Given the description of an element on the screen output the (x, y) to click on. 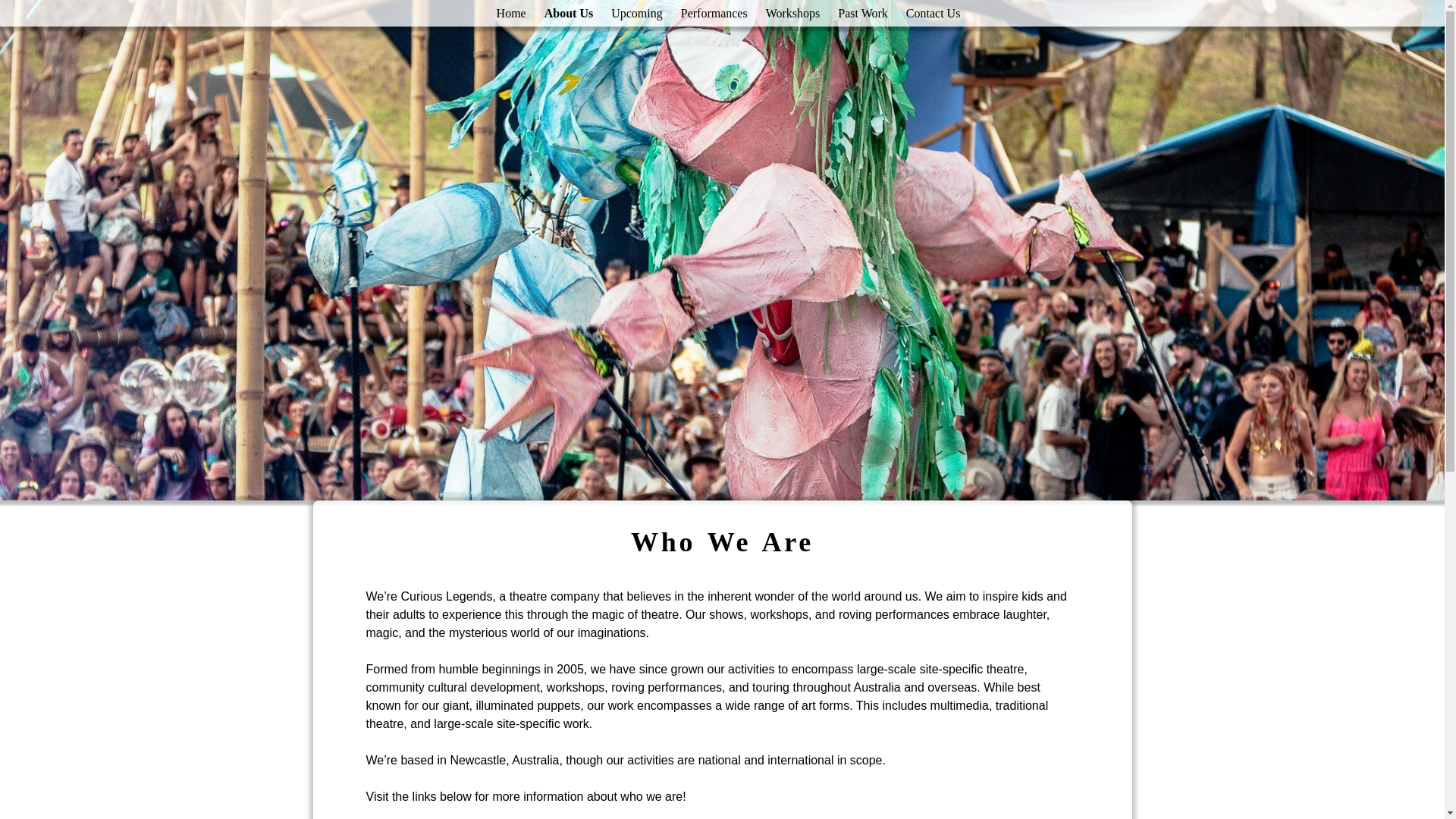
Workshops (793, 13)
Contact Us (932, 13)
Performances (714, 13)
About Us (568, 13)
Past Work (862, 13)
Upcoming (636, 13)
Home (511, 13)
